Given the description of an element on the screen output the (x, y) to click on. 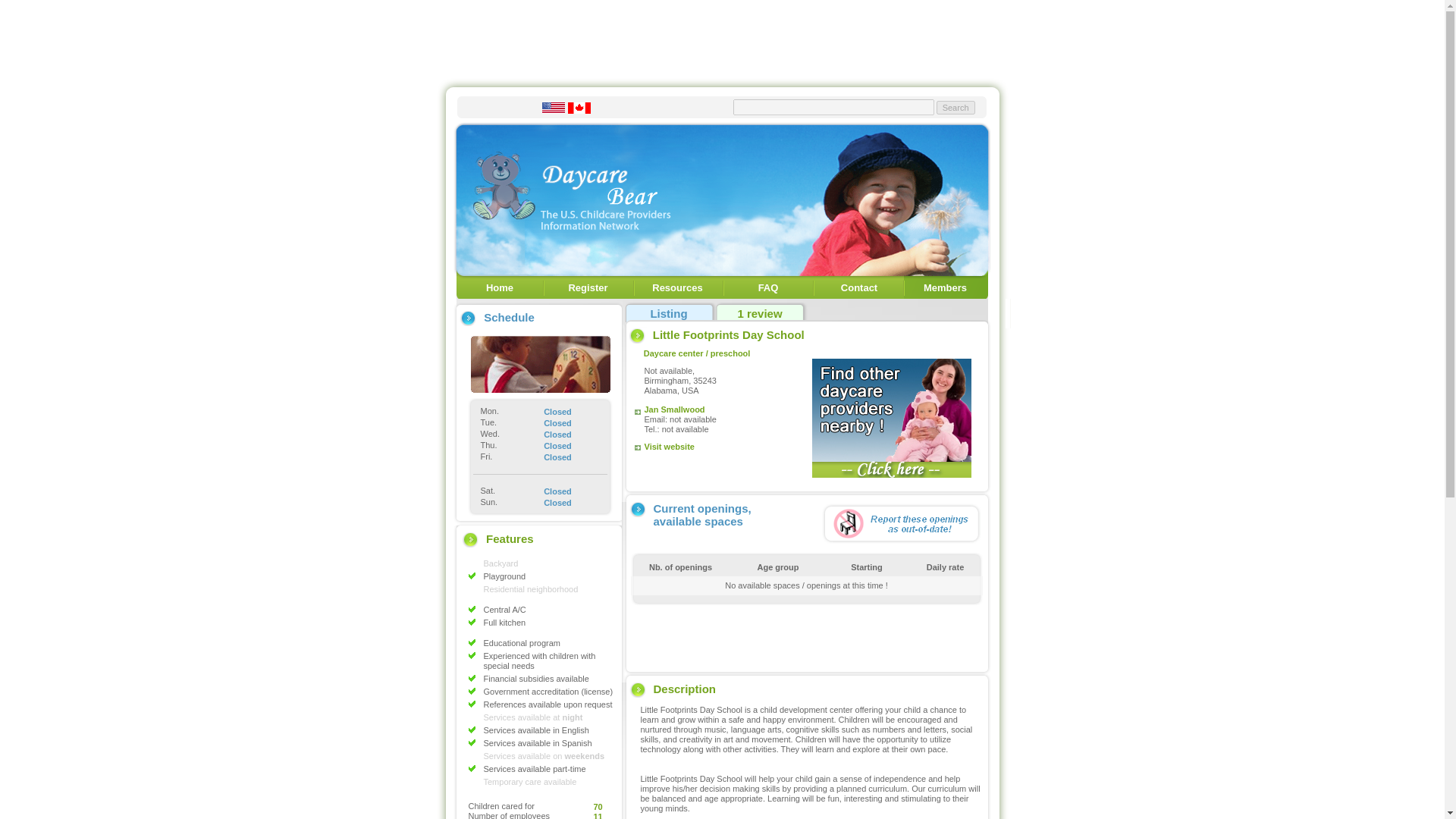
Manage current openings in your daycare (944, 287)
Links to children education websites and related products (676, 287)
Frequently asked questions on Daycare Bear (768, 287)
FAQ (768, 287)
Home (499, 287)
Advertisement (806, 635)
Contact (859, 287)
1 review (758, 313)
Register (587, 287)
Contact the Daycare Bear team (859, 287)
Search (955, 107)
Members (944, 287)
Resources (676, 287)
Search (955, 107)
Advertisement (721, 39)
